Given the description of an element on the screen output the (x, y) to click on. 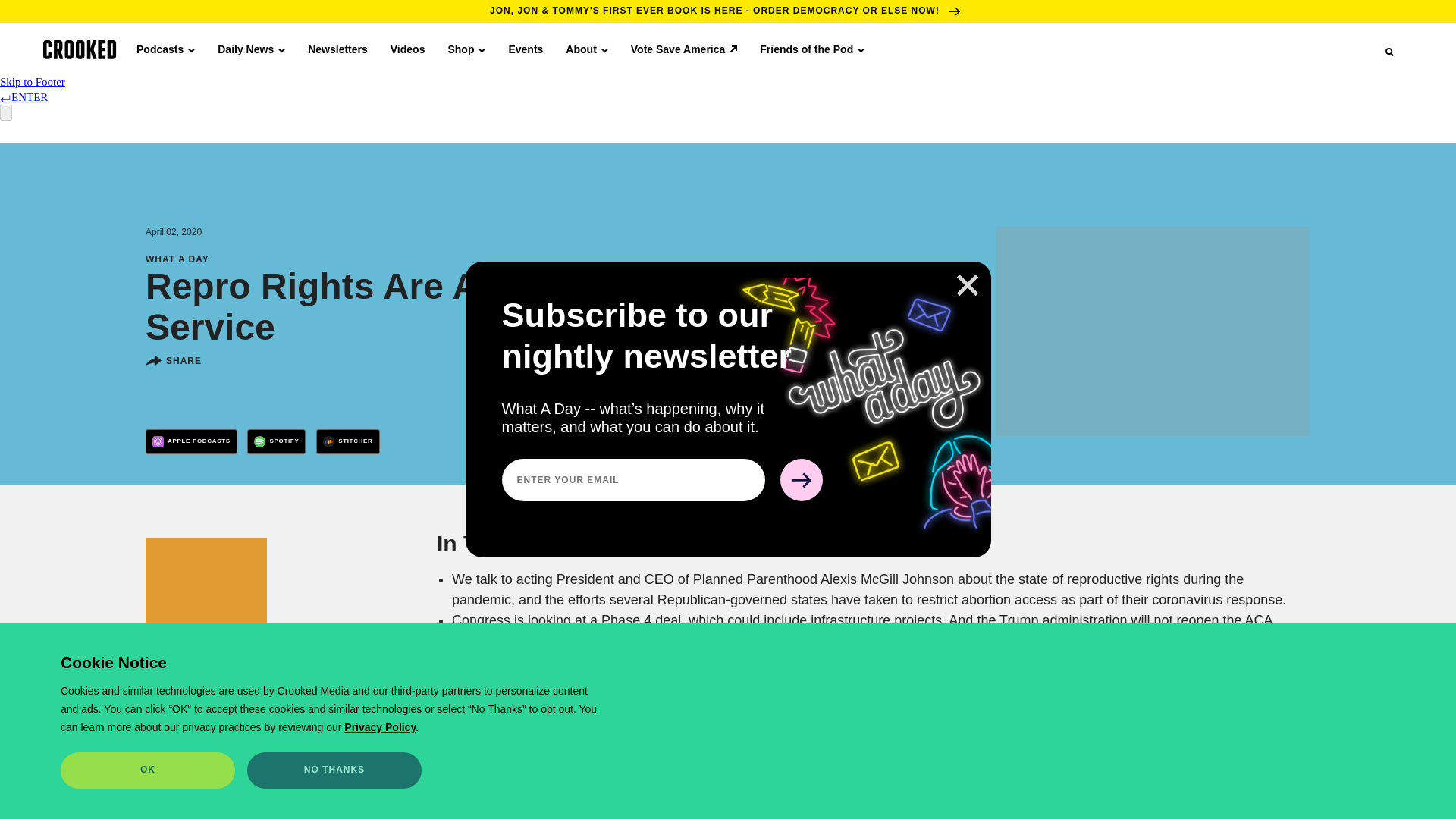
About (586, 48)
Daily News (250, 48)
Shop (465, 48)
Events (525, 48)
Podcasts (165, 48)
Newsletters (337, 48)
Videos (407, 48)
Friends of the Pod (812, 48)
Vote Save America (684, 48)
